Given the description of an element on the screen output the (x, y) to click on. 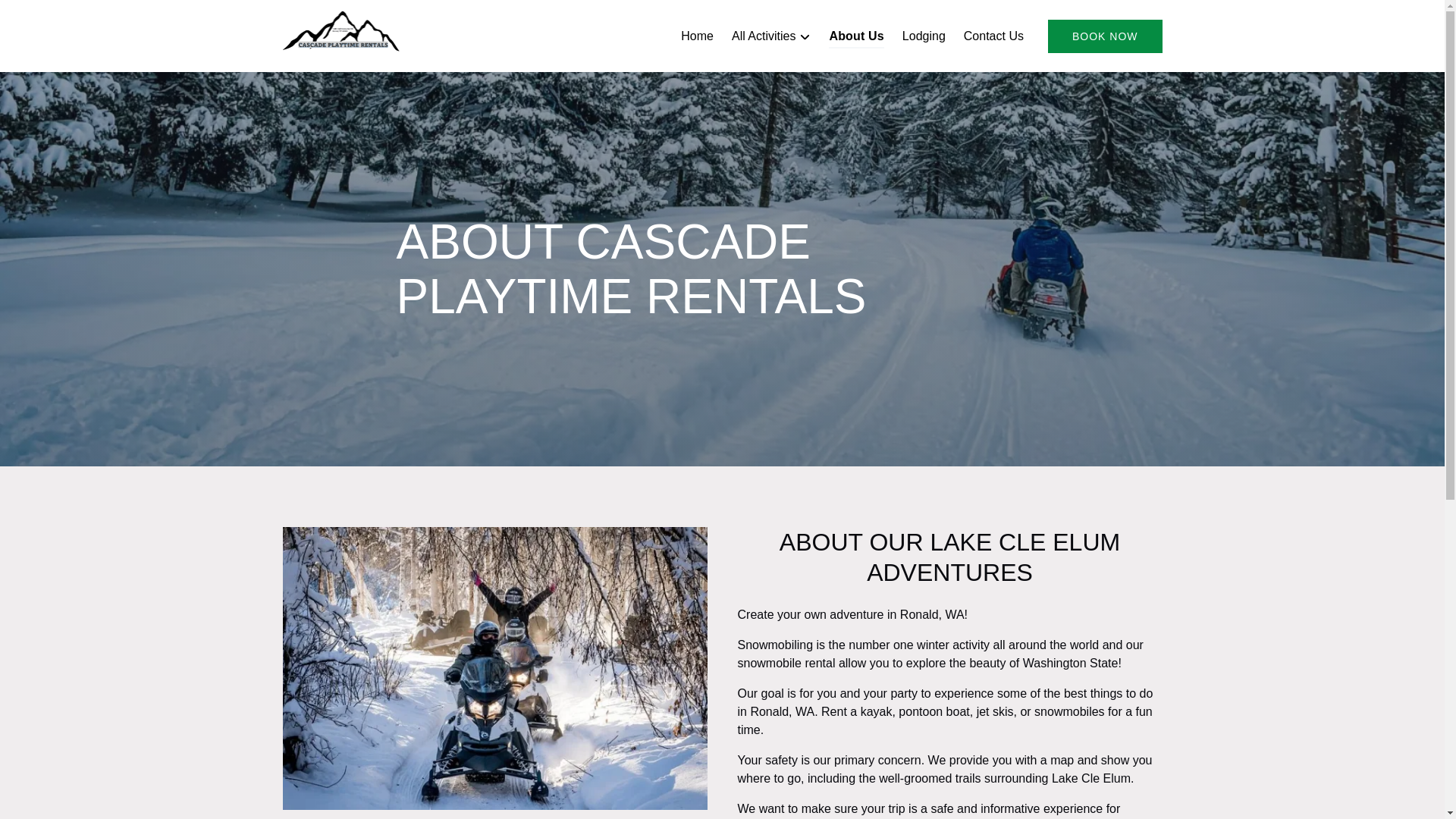
Open All Activities Menu (774, 32)
About Us (855, 35)
Skip to content (47, 16)
Contact Us (993, 35)
Skip to footer (42, 16)
Home (696, 35)
Lodging (924, 35)
All Activities (770, 35)
Skip to primary navigation (77, 16)
BOOK NOW (1104, 36)
Full Day Snowmobile Rental Image 1 (494, 668)
